Given the description of an element on the screen output the (x, y) to click on. 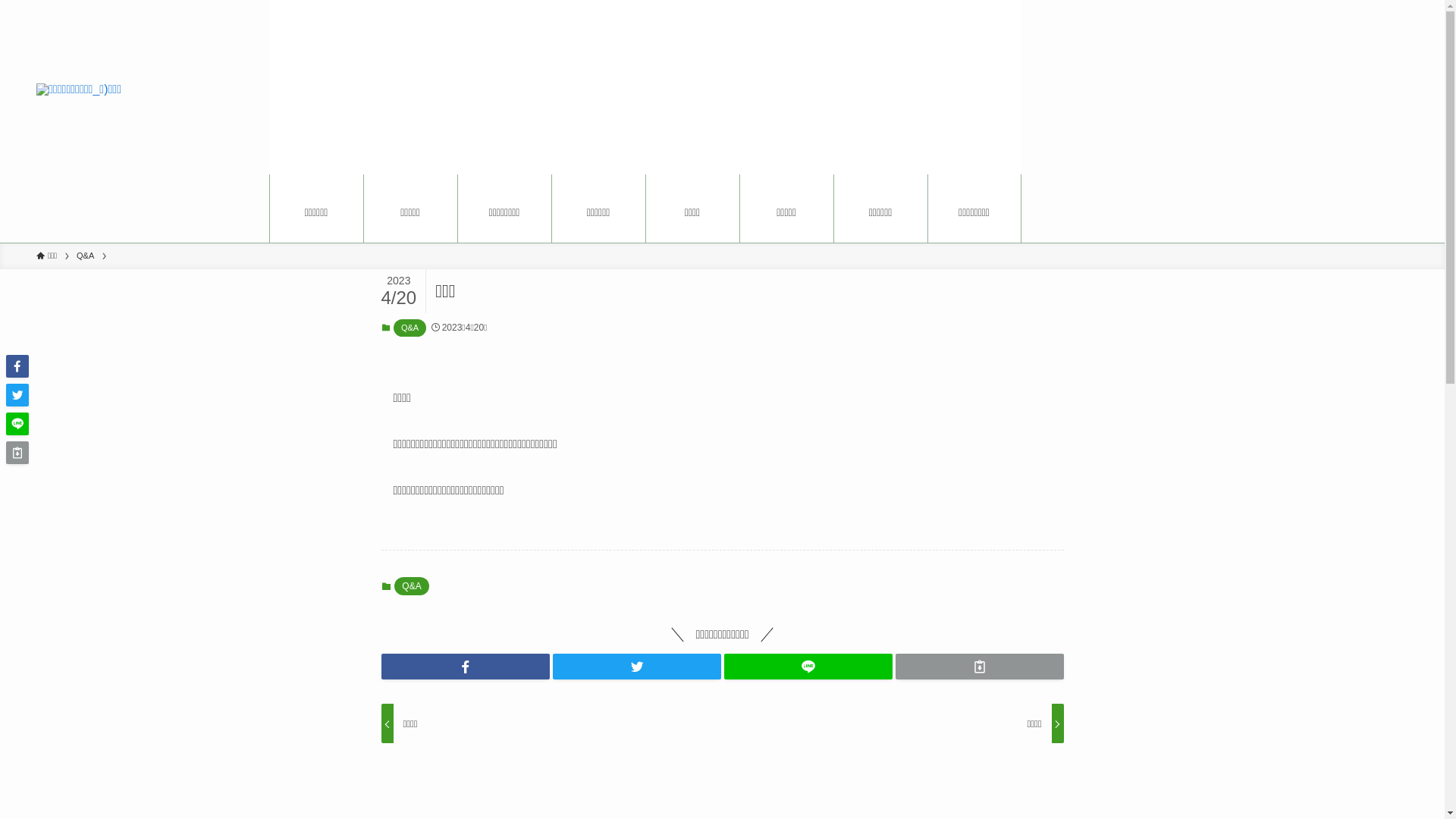
Q&A Element type: text (411, 586)
Q&A Element type: text (409, 327)
Q&A Element type: text (85, 256)
